Given the description of an element on the screen output the (x, y) to click on. 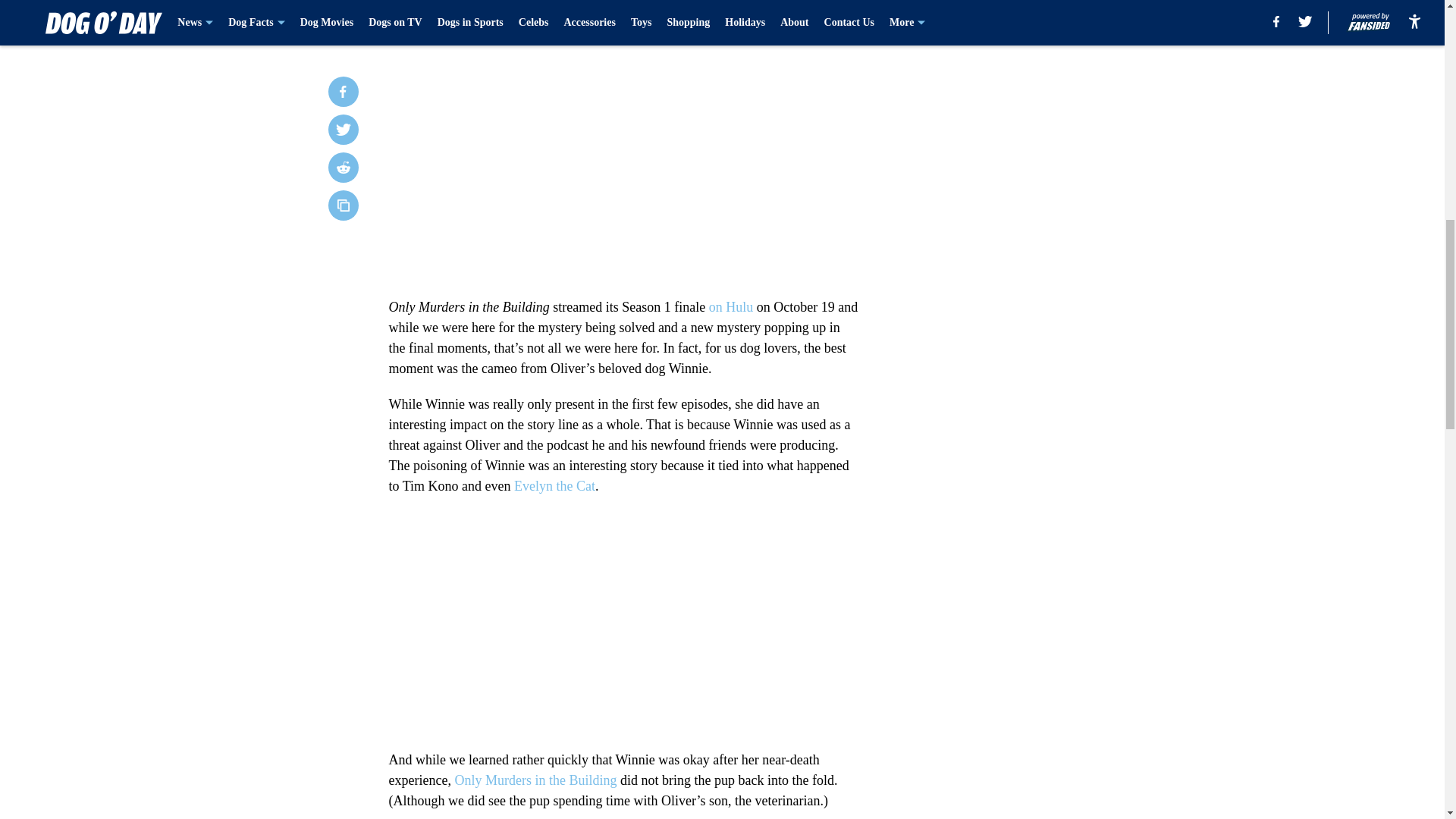
Evelyn the Cat (554, 485)
Only Murders in the Building (534, 780)
on Hulu (731, 306)
